Given the description of an element on the screen output the (x, y) to click on. 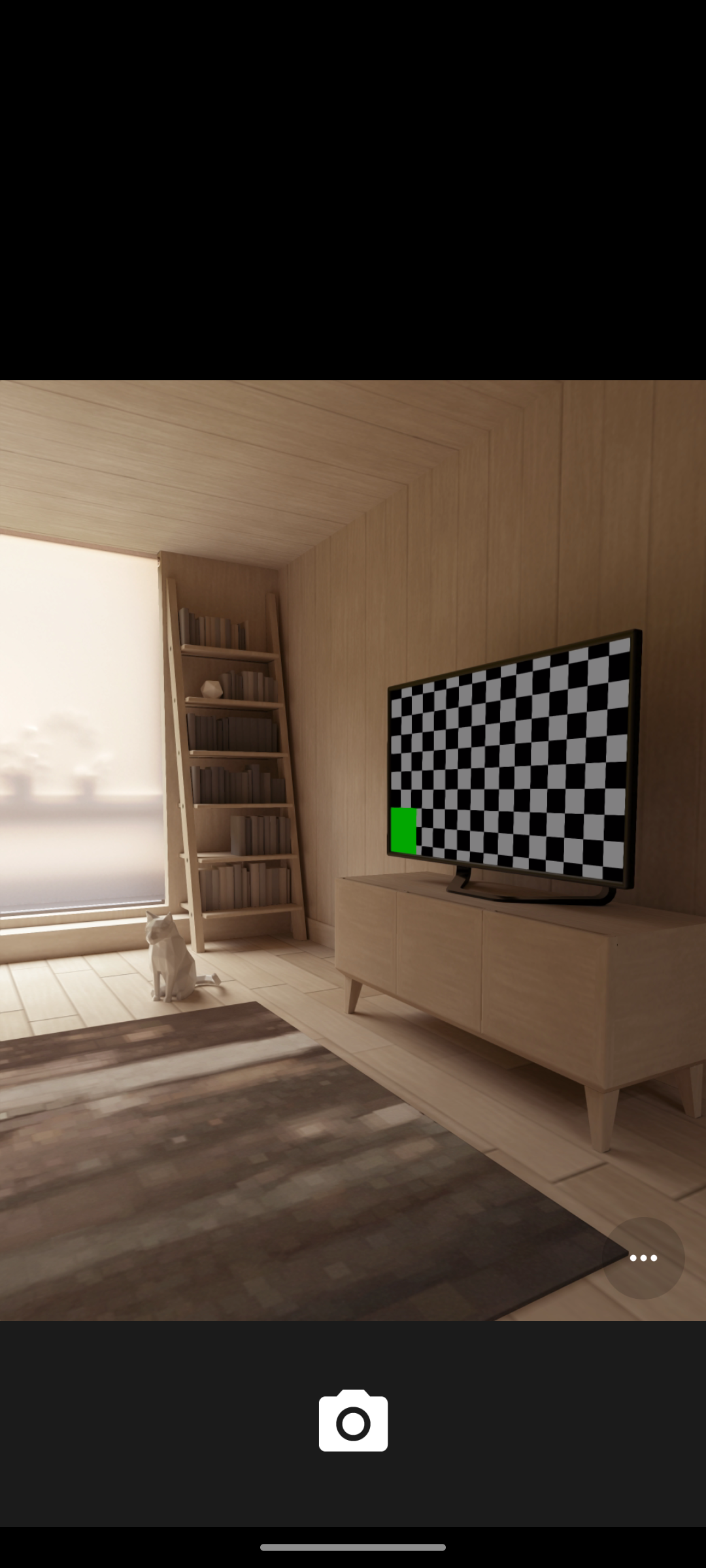
Options (643, 1257)
Shutter (353, 1423)
